Given the description of an element on the screen output the (x, y) to click on. 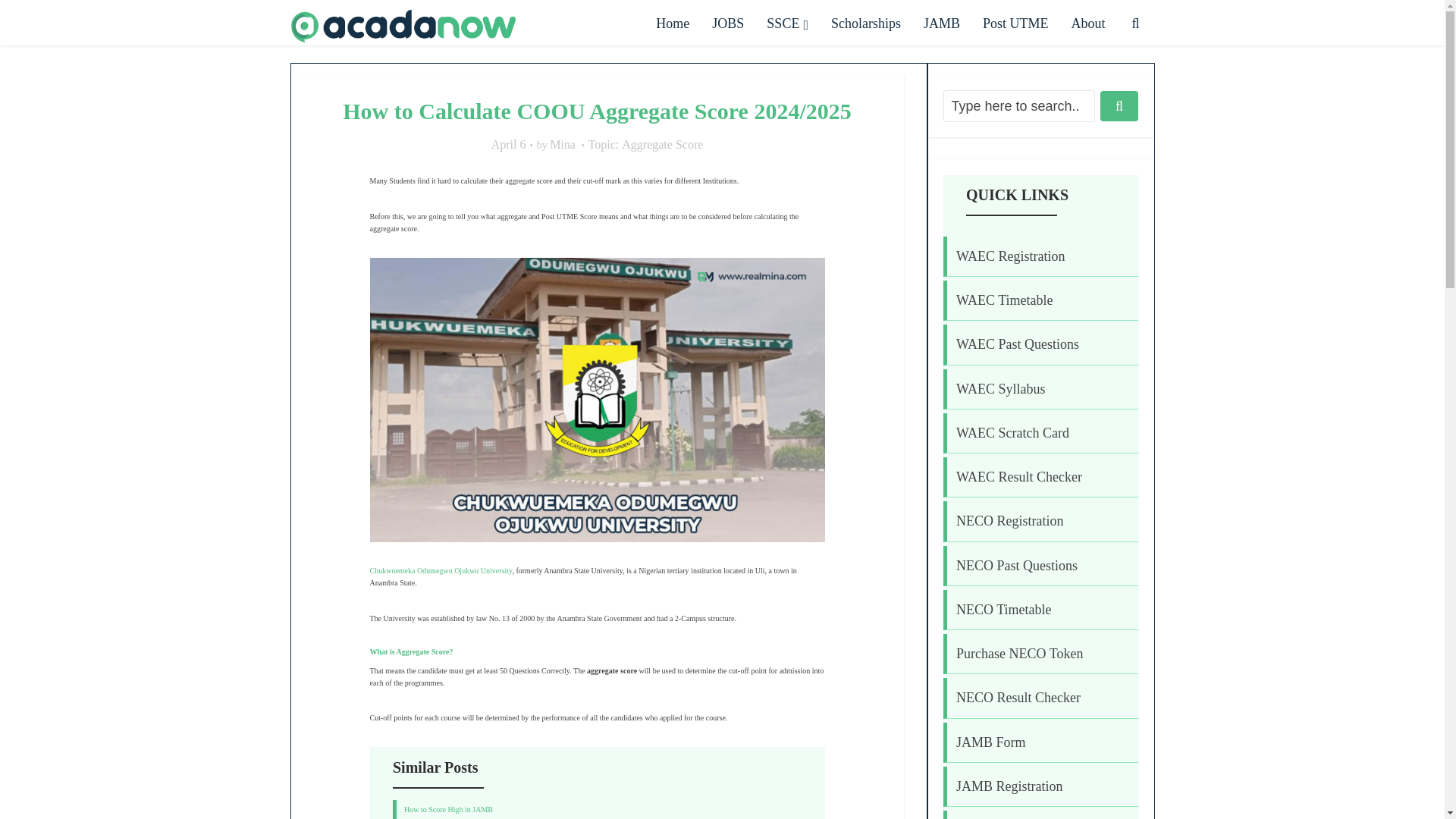
Post UTME (1015, 23)
How to Score High in JAMB (448, 809)
Scholarships (865, 23)
Type here to search... (1018, 106)
Aggregate Score (662, 145)
Chukwuemeka Odumegwu Ojukwu University (440, 570)
JOBS (727, 23)
JAMB (941, 23)
WAEC Past Questions (1017, 344)
About (1087, 23)
